Given the description of an element on the screen output the (x, y) to click on. 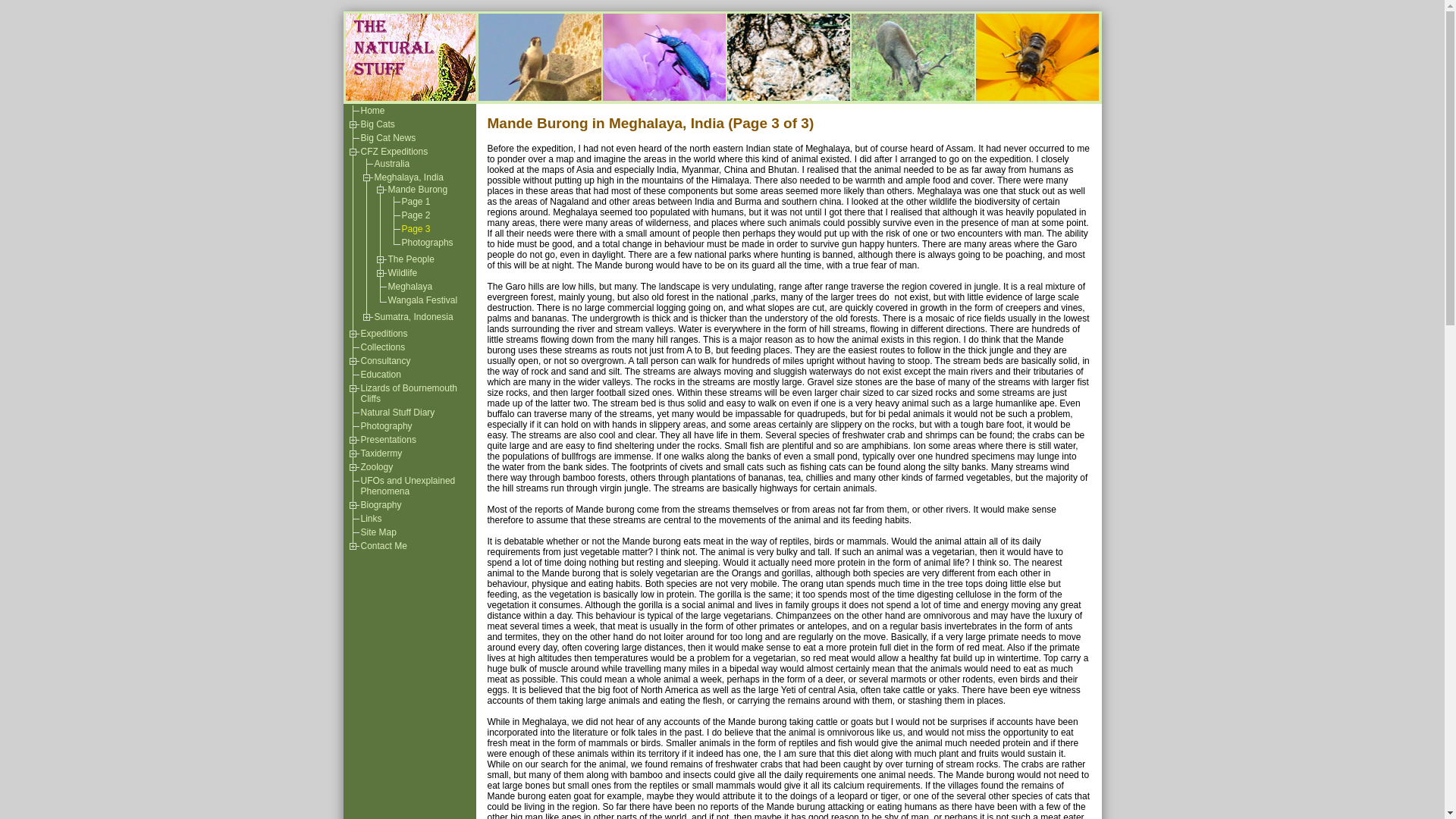
Page 3 (415, 228)
Wildlife (402, 272)
Photographs (426, 242)
Page 2 (415, 215)
Big Cats (377, 123)
Mande Burong (418, 189)
Australia (392, 163)
Home (373, 110)
Meghalaya (410, 286)
Sumatra, Indonesia (413, 316)
Meghalaya, India (409, 177)
Wangala Festival (423, 300)
CFZ Expeditions (394, 151)
Page 1 (415, 201)
Big Cat News (388, 137)
